Given the description of an element on the screen output the (x, y) to click on. 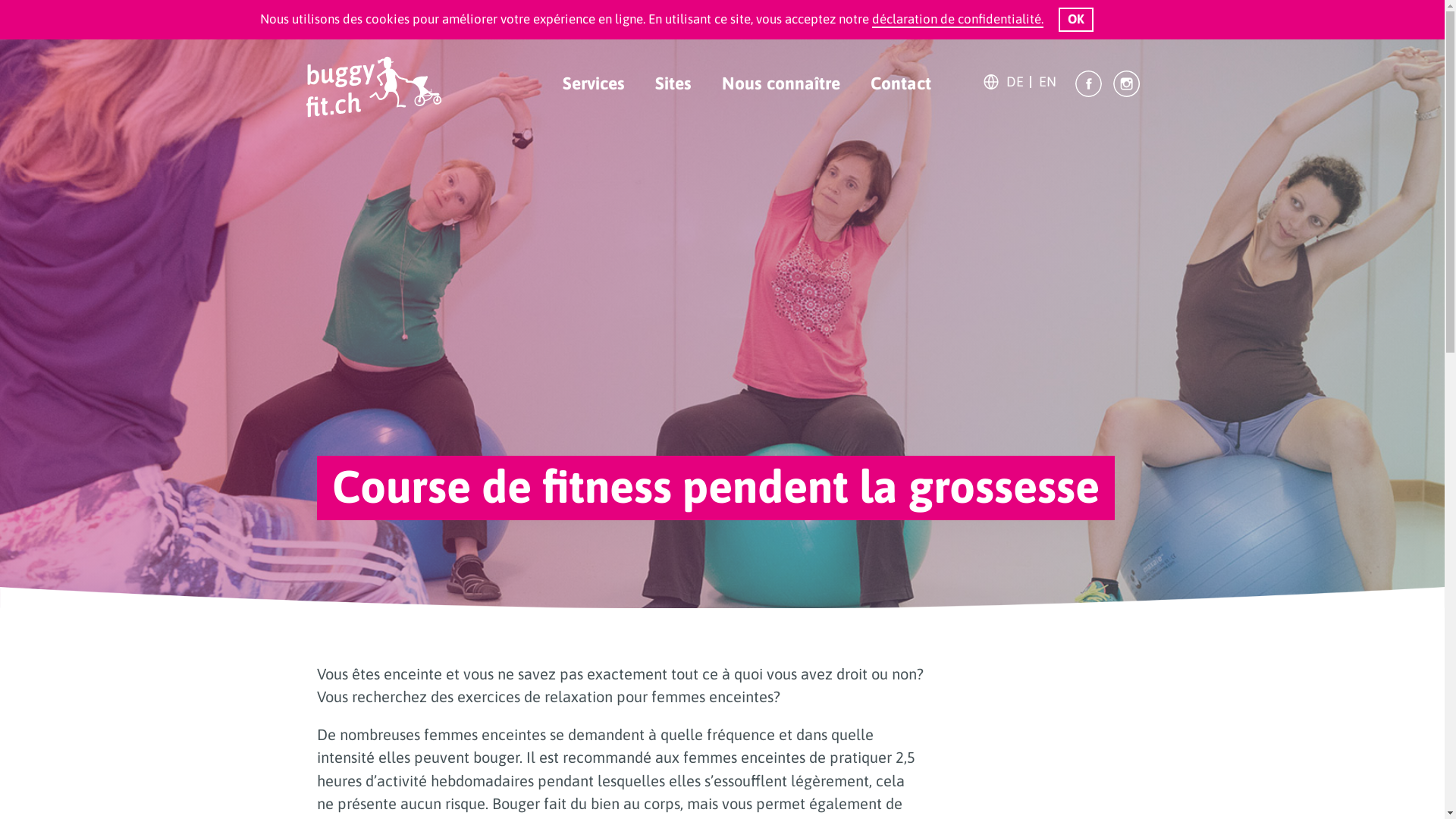
Sites Element type: text (673, 83)
EN Element type: text (1047, 81)
Contact Element type: text (900, 83)
OK Element type: text (1075, 19)
Services Element type: text (593, 83)
DE Element type: text (1013, 81)
